Given the description of an element on the screen output the (x, y) to click on. 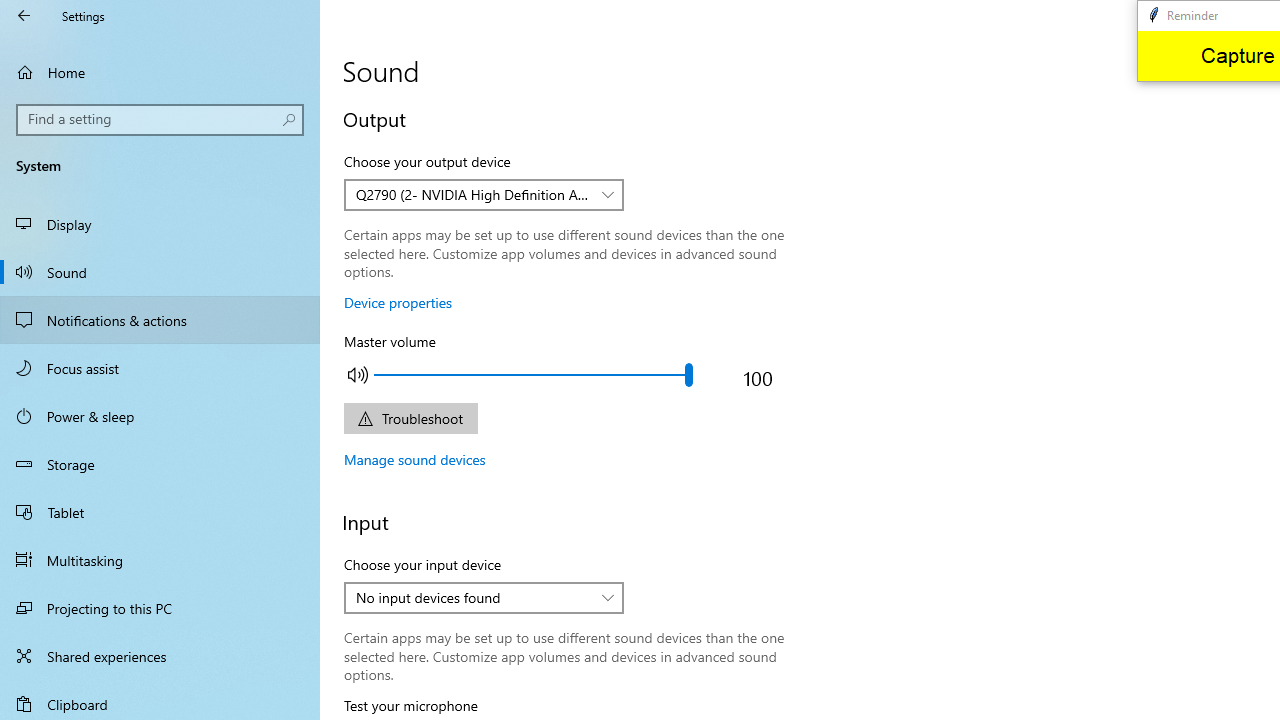
Q2790 (2- NVIDIA High Definition Audio) (473, 194)
Manage sound devices (415, 459)
Output device troubleshoot (410, 418)
Choose your output device (484, 194)
Device properties (397, 302)
